Given the description of an element on the screen output the (x, y) to click on. 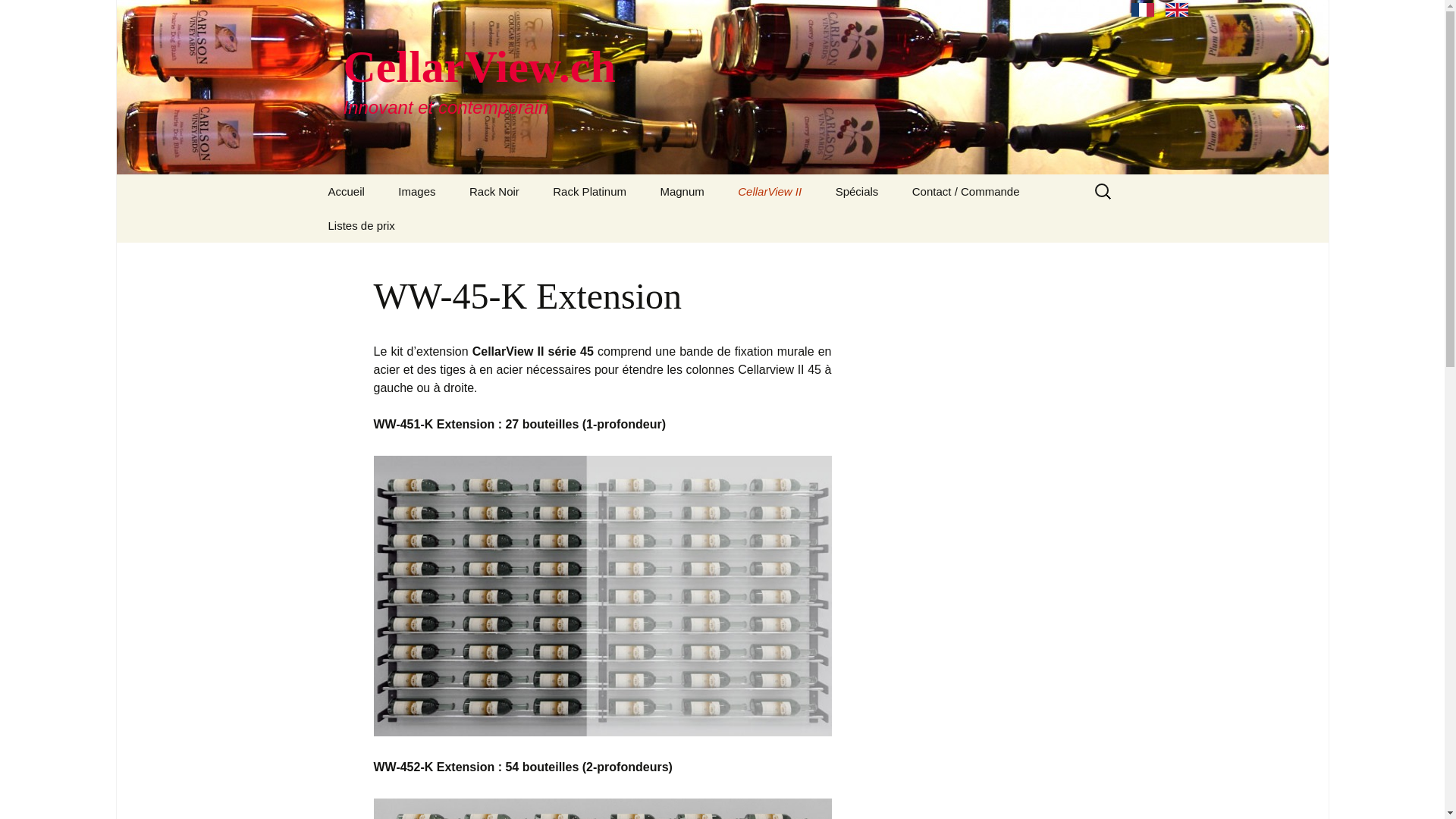
Magnum Element type: text (681, 191)
Rack Noir Element type: text (494, 191)
MAG1 Element type: text (720, 225)
Rechercher Element type: text (18, 15)
English Element type: hover (1176, 9)
CellarView II Element type: text (769, 191)
Contact / Commande Element type: text (966, 191)
Listes de prix Element type: text (360, 225)
Accueil Element type: text (345, 191)
Rack Noir Element type: text (798, 225)
CellarView Element type: text (388, 259)
Images Element type: text (416, 191)
CellarView.ch
Innovant et contemporain Element type: text (721, 87)
Aller au contenu principal Element type: text (312, 173)
WS3 Platinum Element type: text (613, 225)
WS3 Noir Element type: text (529, 225)
Rack Platinum Element type: text (589, 191)
Sol-Plafond Element type: text (896, 225)
